Given the description of an element on the screen output the (x, y) to click on. 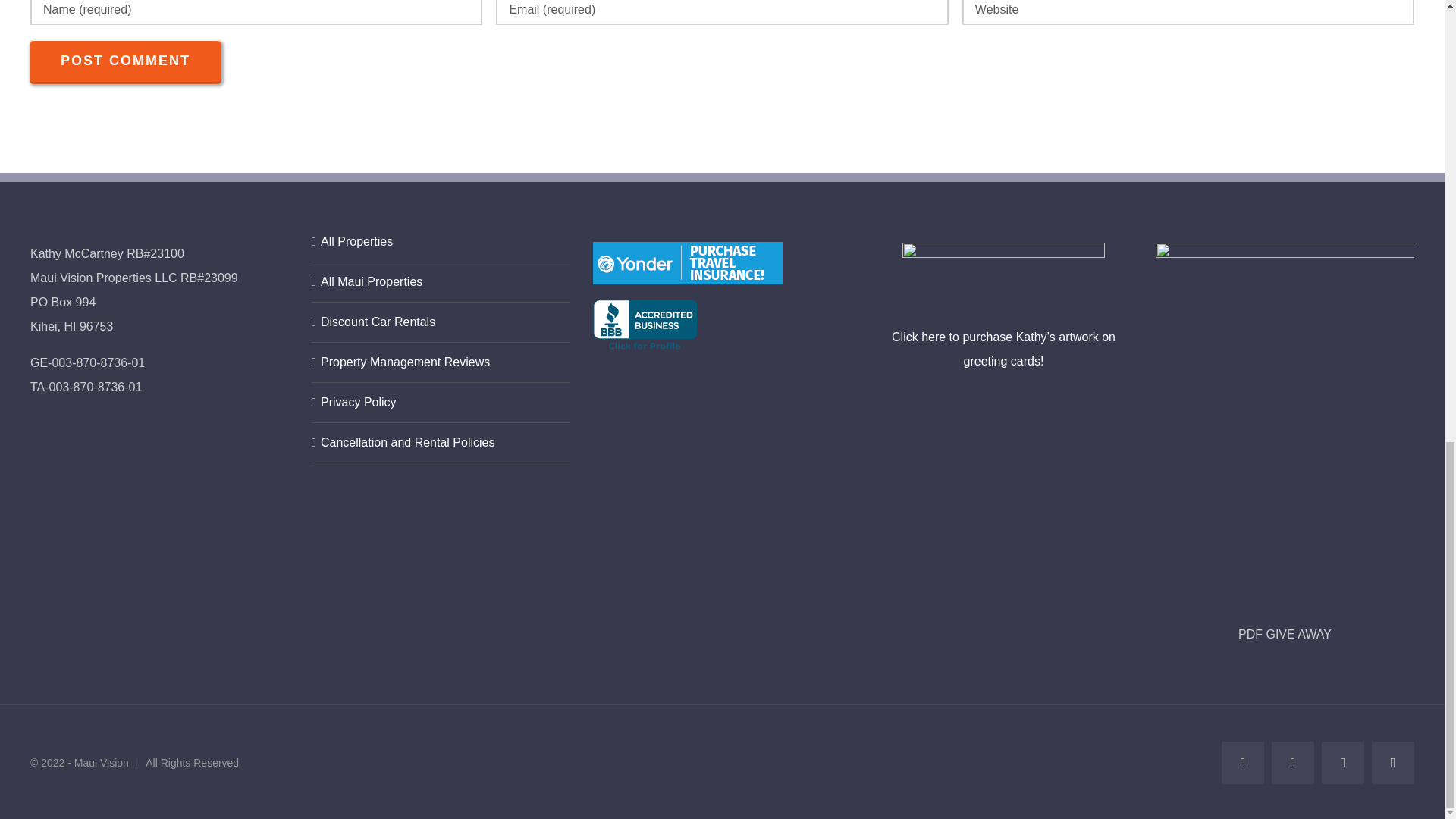
LinkedIn (1343, 762)
Post Comment (125, 60)
Facebook (1242, 762)
X (1292, 762)
Yonder Travel Insurance (687, 262)
All Properties (441, 241)
Post Comment (125, 60)
Instagram (1392, 762)
